Given the description of an element on the screen output the (x, y) to click on. 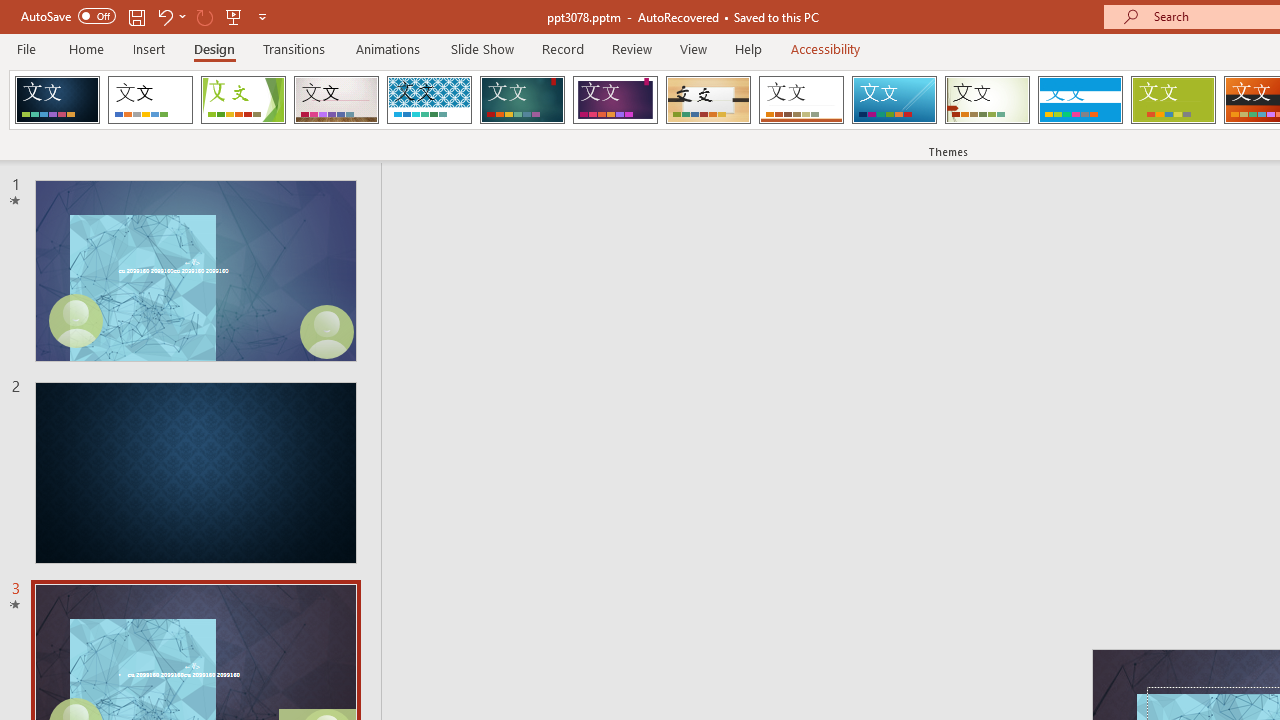
Banded (1080, 100)
Basis (1172, 100)
Ion Boardroom (615, 100)
Slice (893, 100)
